Given the description of an element on the screen output the (x, y) to click on. 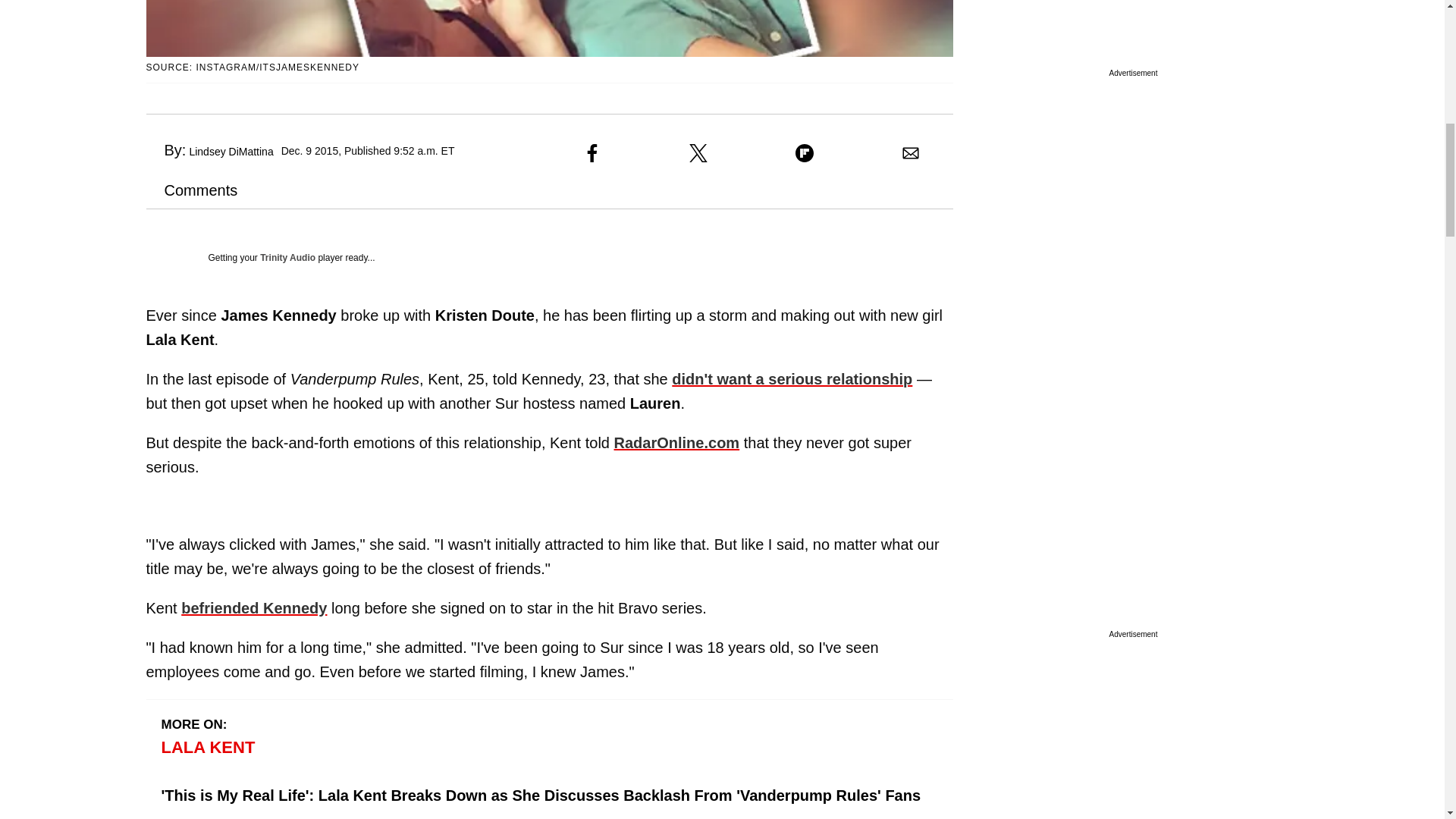
befriended Kennedy (253, 607)
Lindsey DiMattina (231, 151)
didn't want a serious relationship (791, 379)
Share to Email (909, 153)
Comments (191, 190)
Trinity Audio (287, 257)
RadarOnline.com (676, 442)
Share to Facebook (590, 153)
Share to Flipboard (803, 153)
Share to X (697, 153)
